Given the description of an element on the screen output the (x, y) to click on. 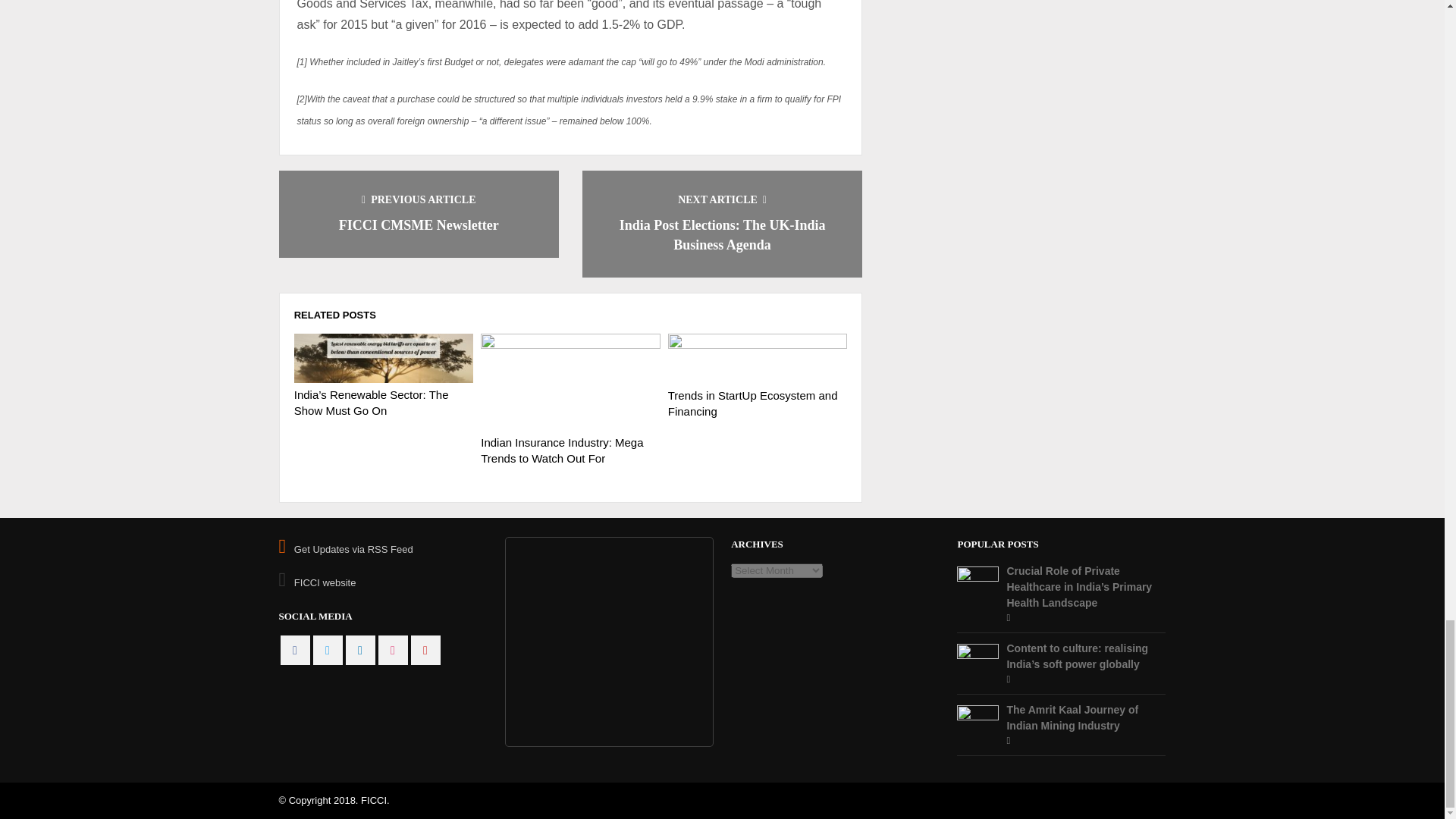
FICCI CMSME Newsletter (419, 224)
Indian Insurance Industry: Mega Trends to Watch Out For (561, 450)
Trends in StartUp Ecosystem and Financing (757, 358)
Trends in StartUp Ecosystem and Financing (753, 403)
Indian Insurance Industry: Mega Trends to Watch Out For (561, 450)
India Post Elections: The UK-India Business Agenda (722, 234)
Indian Insurance Industry: Mega Trends to Watch Out For (569, 381)
Trends in StartUp Ecosystem and Financing (753, 403)
